Given the description of an element on the screen output the (x, y) to click on. 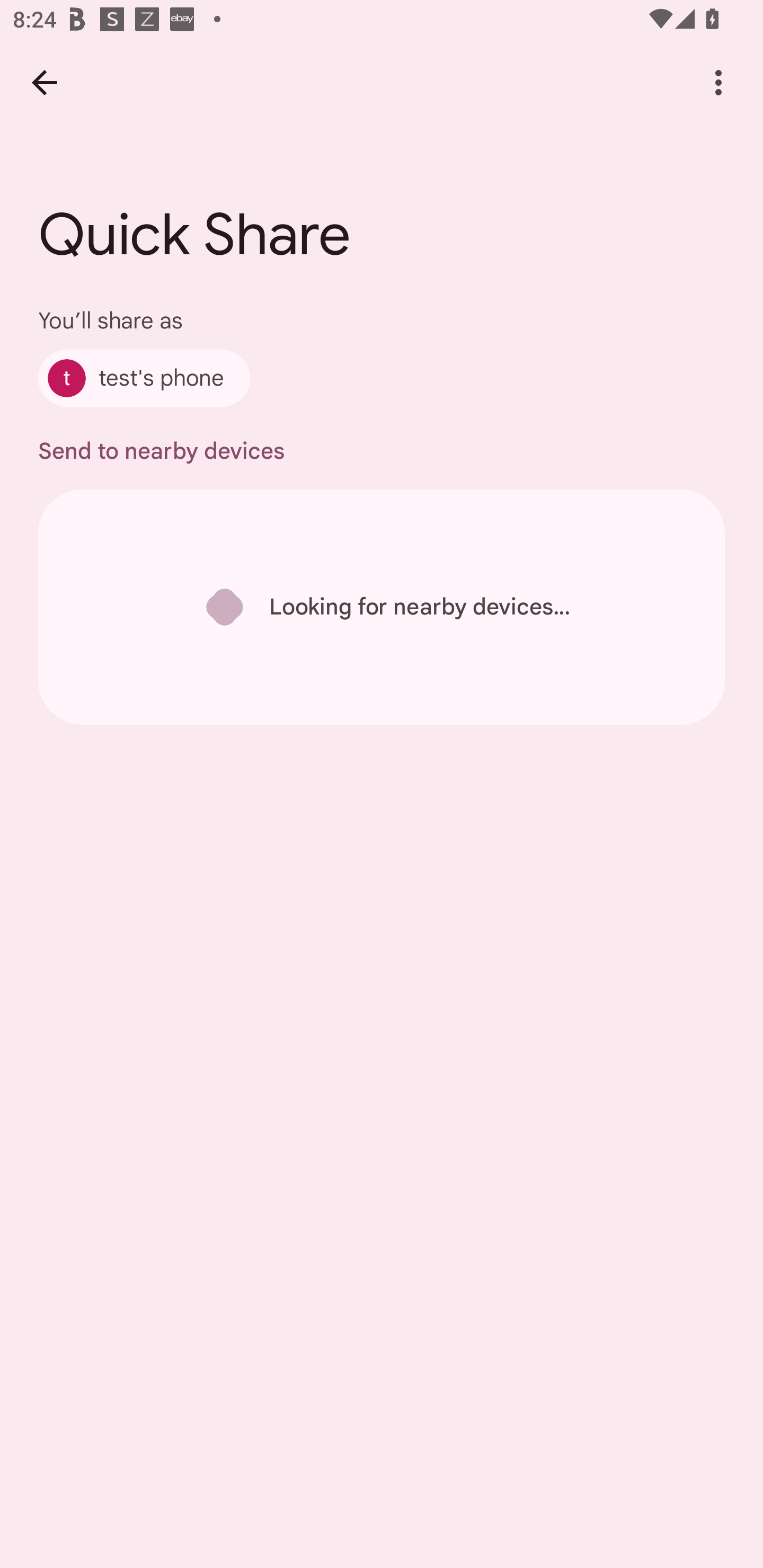
Back (44, 81)
More (718, 81)
test's phone (144, 378)
